Given the description of an element on the screen output the (x, y) to click on. 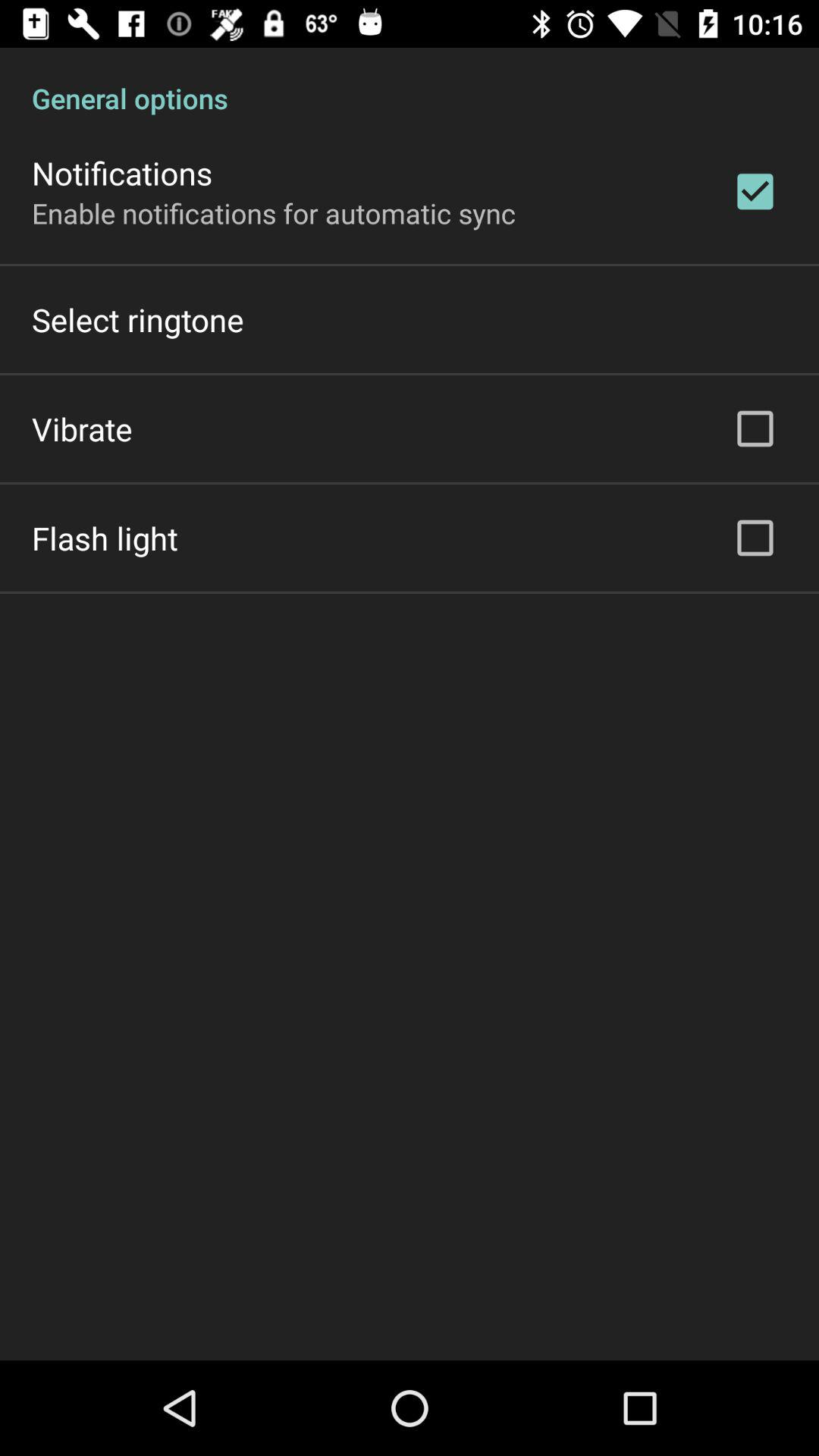
click vibrate (81, 428)
